Given the description of an element on the screen output the (x, y) to click on. 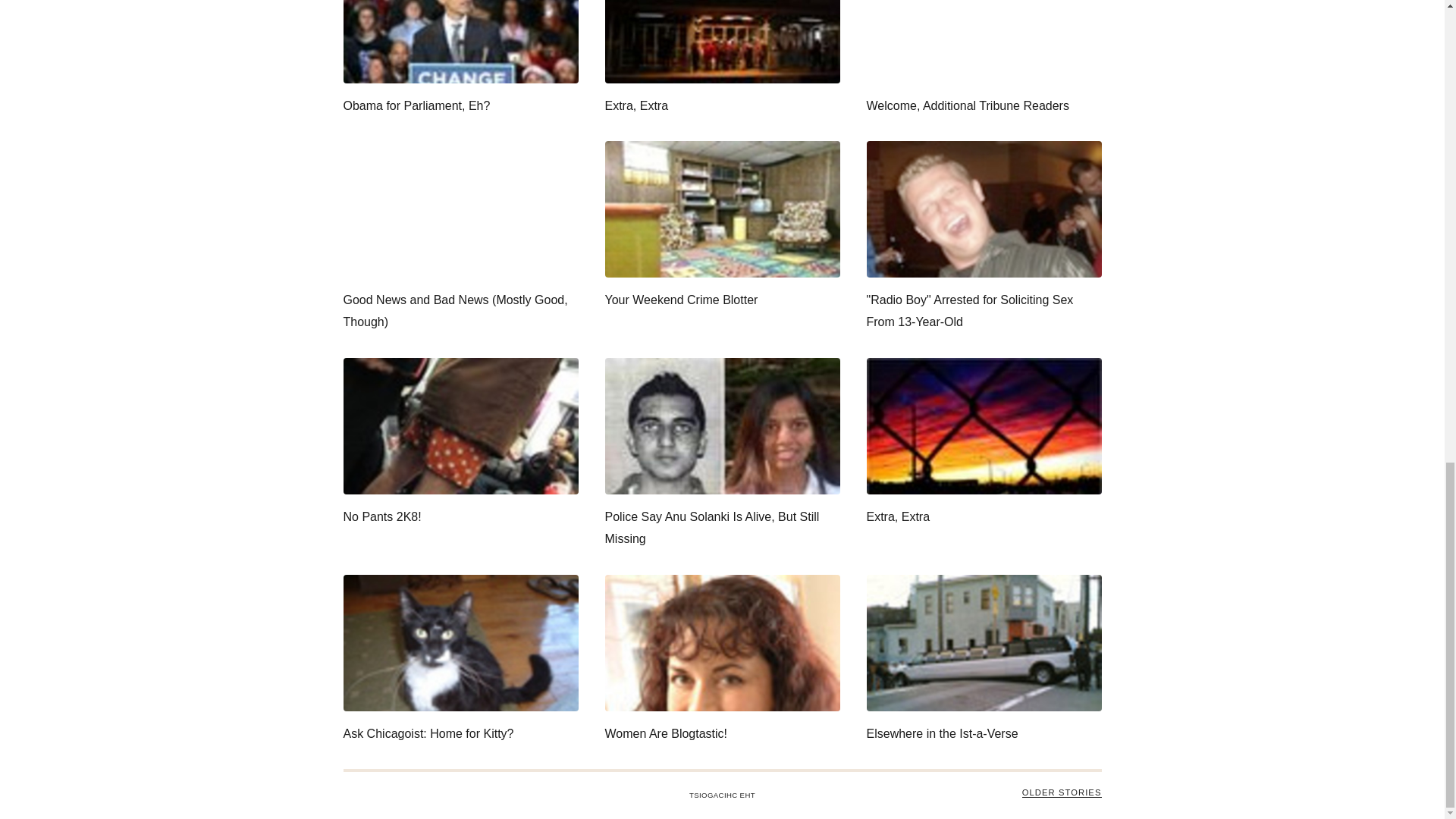
Women Are Blogtastic! (722, 659)
OLDER STORIES (1062, 792)
Extra, Extra (722, 58)
Extra, Extra (983, 442)
"Radio Boy" Arrested for Soliciting Sex From 13-Year-Old (983, 236)
Your Weekend Crime Blotter (722, 226)
No Pants 2K8! (460, 442)
Police Say Anu Solanki Is Alive, But Still Missing (722, 453)
Welcome, Additional Tribune Readers (983, 58)
Ask Chicagoist: Home for Kitty? (460, 659)
Elsewhere in the Ist-a-Verse (983, 659)
Obama for Parliament, Eh? (460, 58)
